Given the description of an element on the screen output the (x, y) to click on. 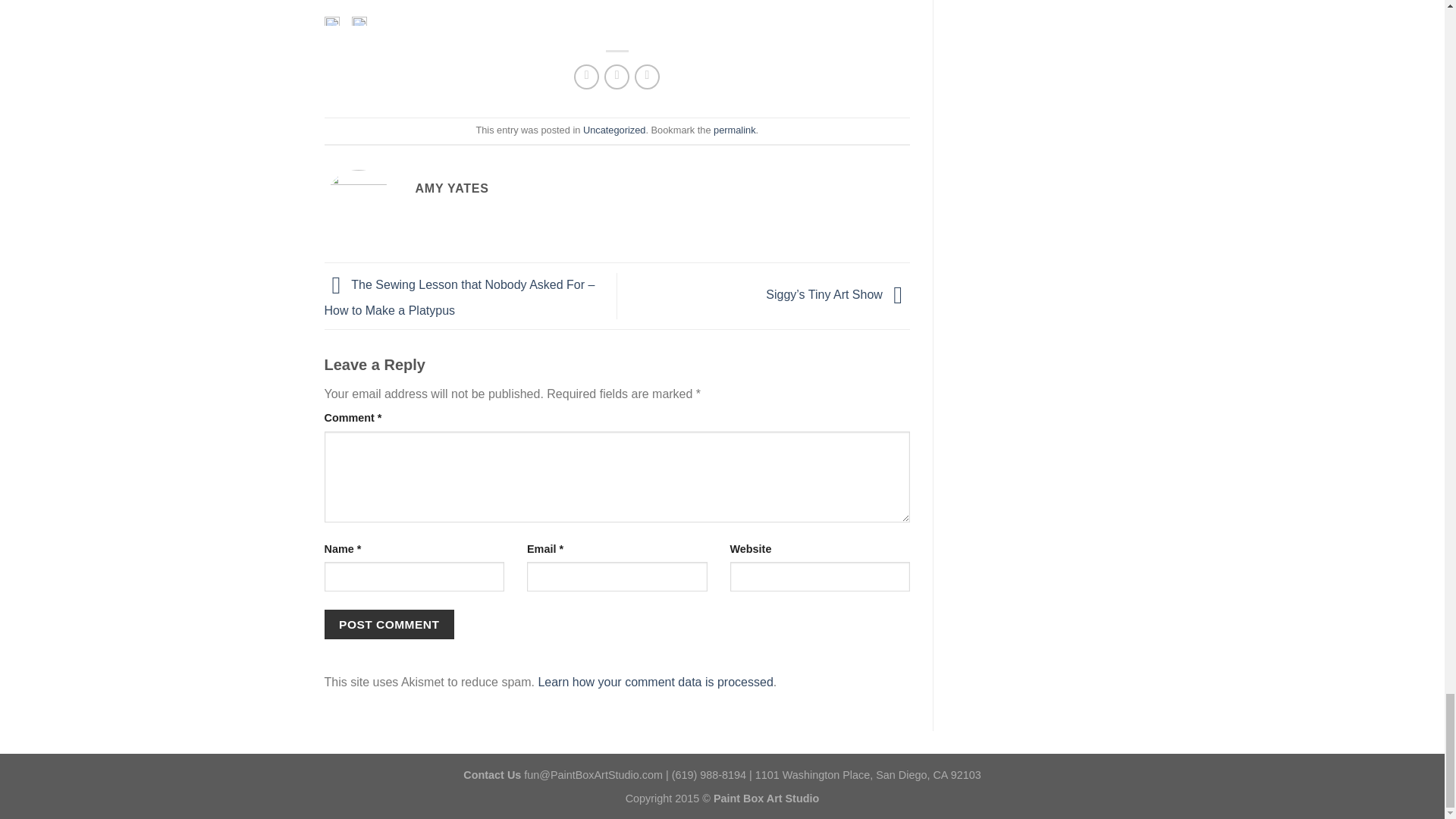
Post Comment (389, 624)
Permalink to Tiny Art Show Grab Bag (734, 129)
permalink (734, 129)
Post Comment (389, 624)
Contact Us (492, 775)
Pin on Pinterest (646, 76)
Share on Facebook (585, 76)
Learn how your comment data is processed (655, 681)
Email to a Friend (616, 76)
Uncategorized (614, 129)
